Given the description of an element on the screen output the (x, y) to click on. 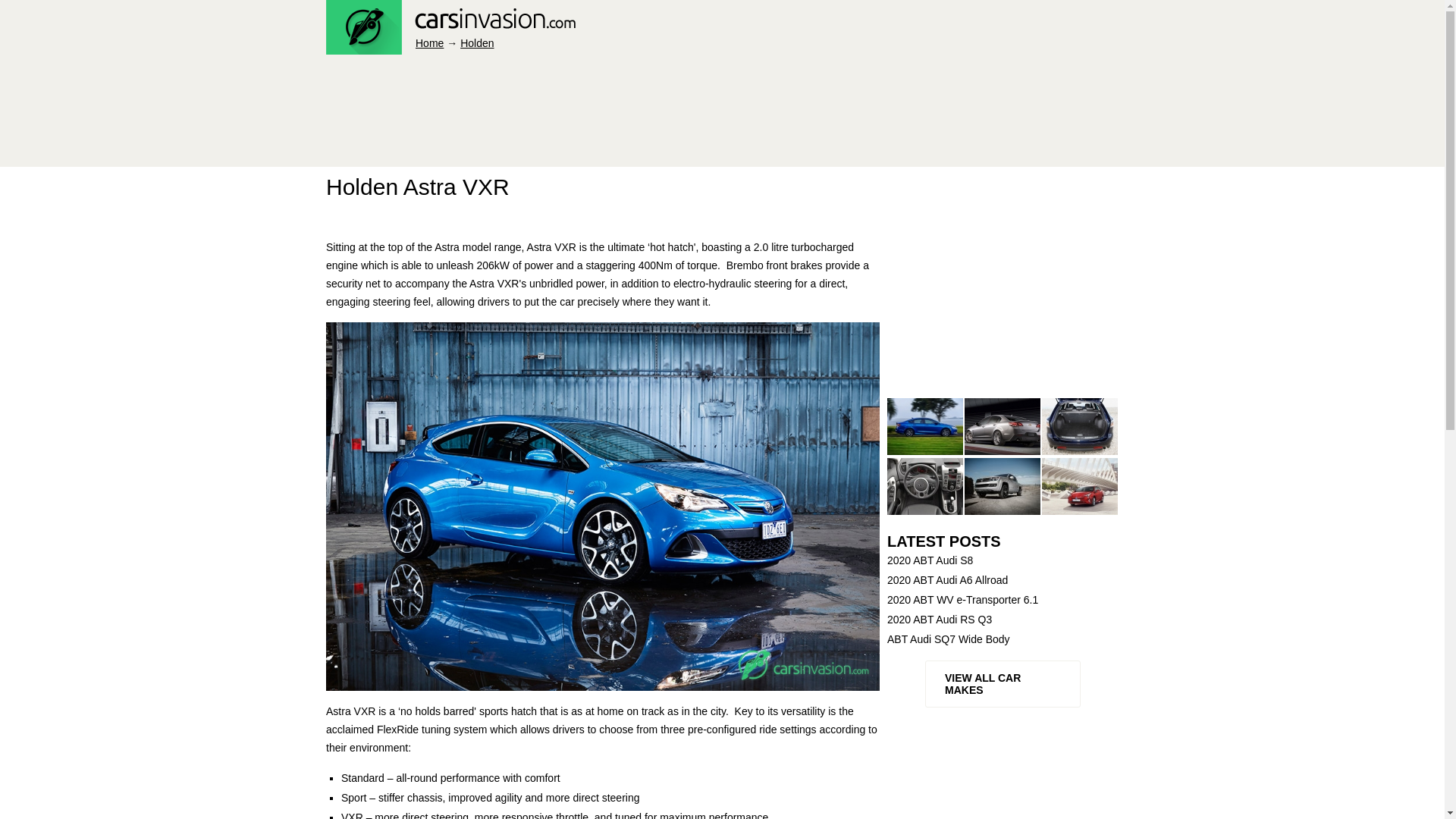
Car pictures and wallpapers (429, 42)
Home (429, 42)
2020 ABT Audi A6 Allroad (1002, 579)
ABT Audi SQ7 Wide Body (1002, 639)
VIEW ALL CAR MAKES (1002, 683)
2020 ABT Audi S8 (1002, 560)
Holden (476, 42)
Advertisement (1000, 295)
Carsinvasion.com (450, 46)
2020 ABT Audi RS Q3 (1002, 619)
2020 ABT WV e-Transporter 6.1 (1002, 599)
Holden (476, 42)
Advertisement (601, 115)
Chrysler 200 (924, 427)
